Given the description of an element on the screen output the (x, y) to click on. 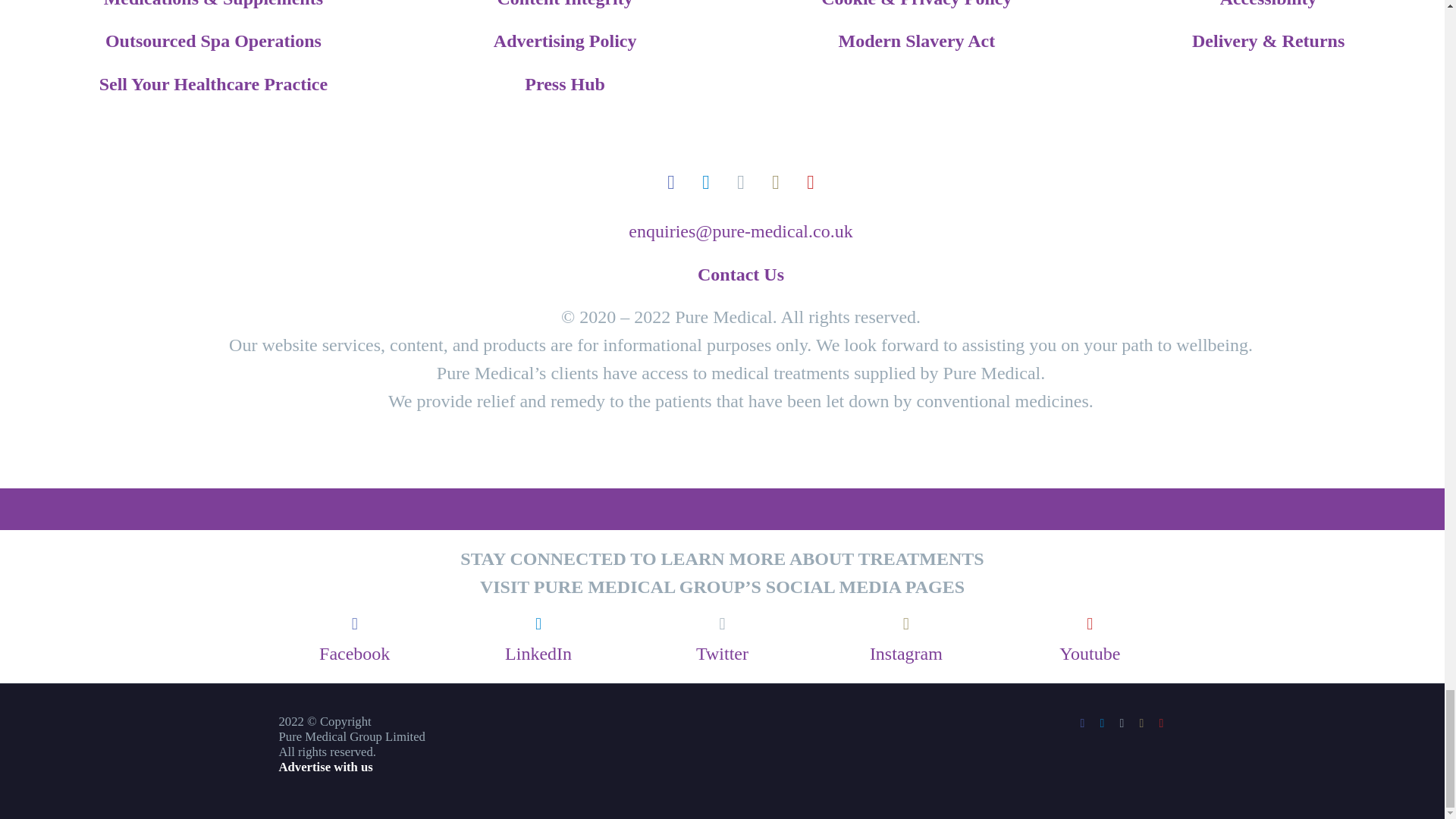
Instagram (1141, 723)
LinkedIn (1102, 723)
Facebook (1083, 723)
Twitter (1122, 723)
YouTube (1161, 723)
